Given the description of an element on the screen output the (x, y) to click on. 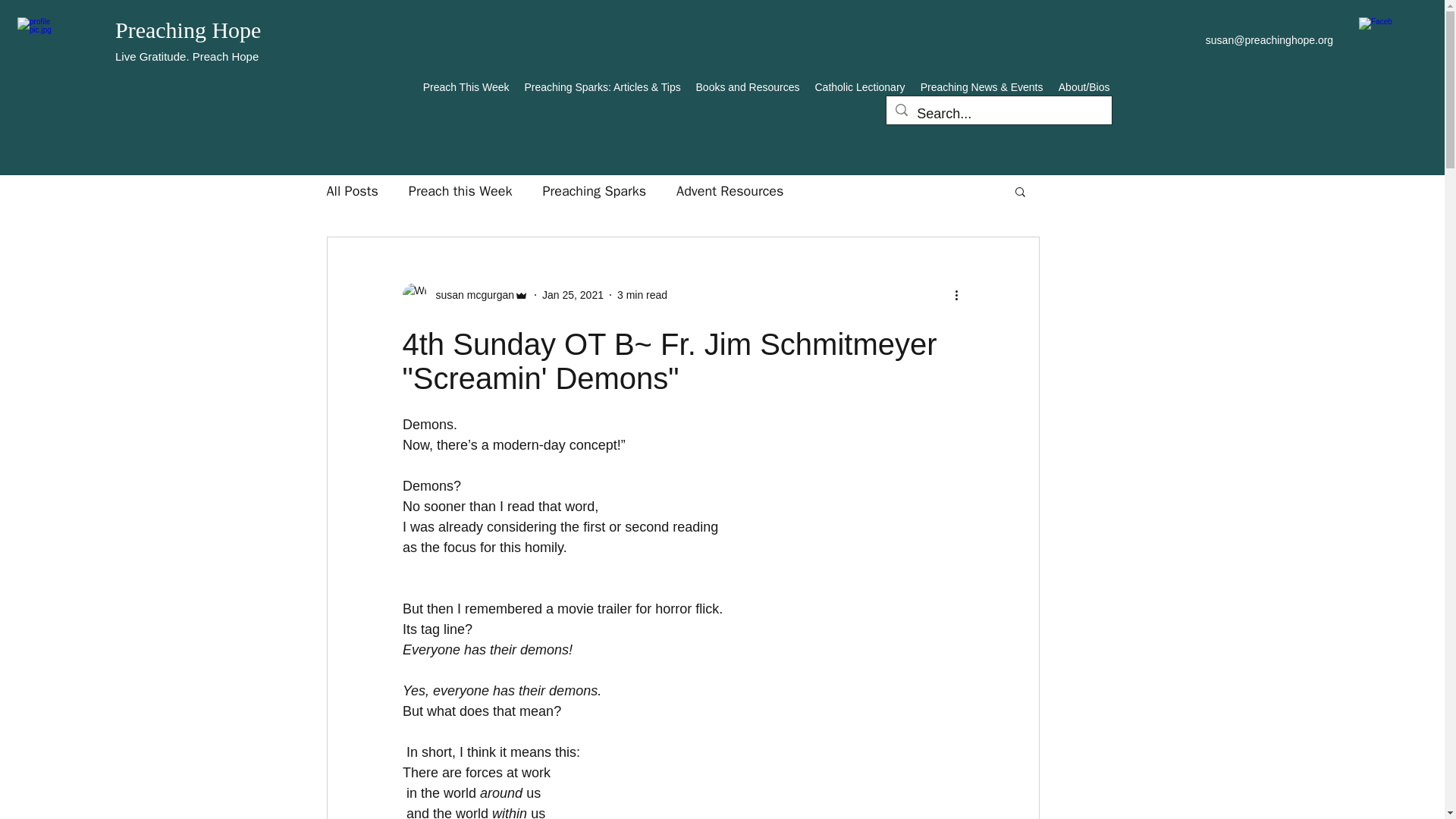
susan mcgurgan (464, 294)
Catholic Lectionary (859, 87)
Advent Resources (730, 190)
Books and Resources (748, 87)
Preaching Sparks (593, 190)
All Posts (351, 190)
3 min read (641, 294)
susan mcgurgan (469, 294)
Jan 25, 2021 (572, 294)
Preach this Week (460, 190)
